Given the description of an element on the screen output the (x, y) to click on. 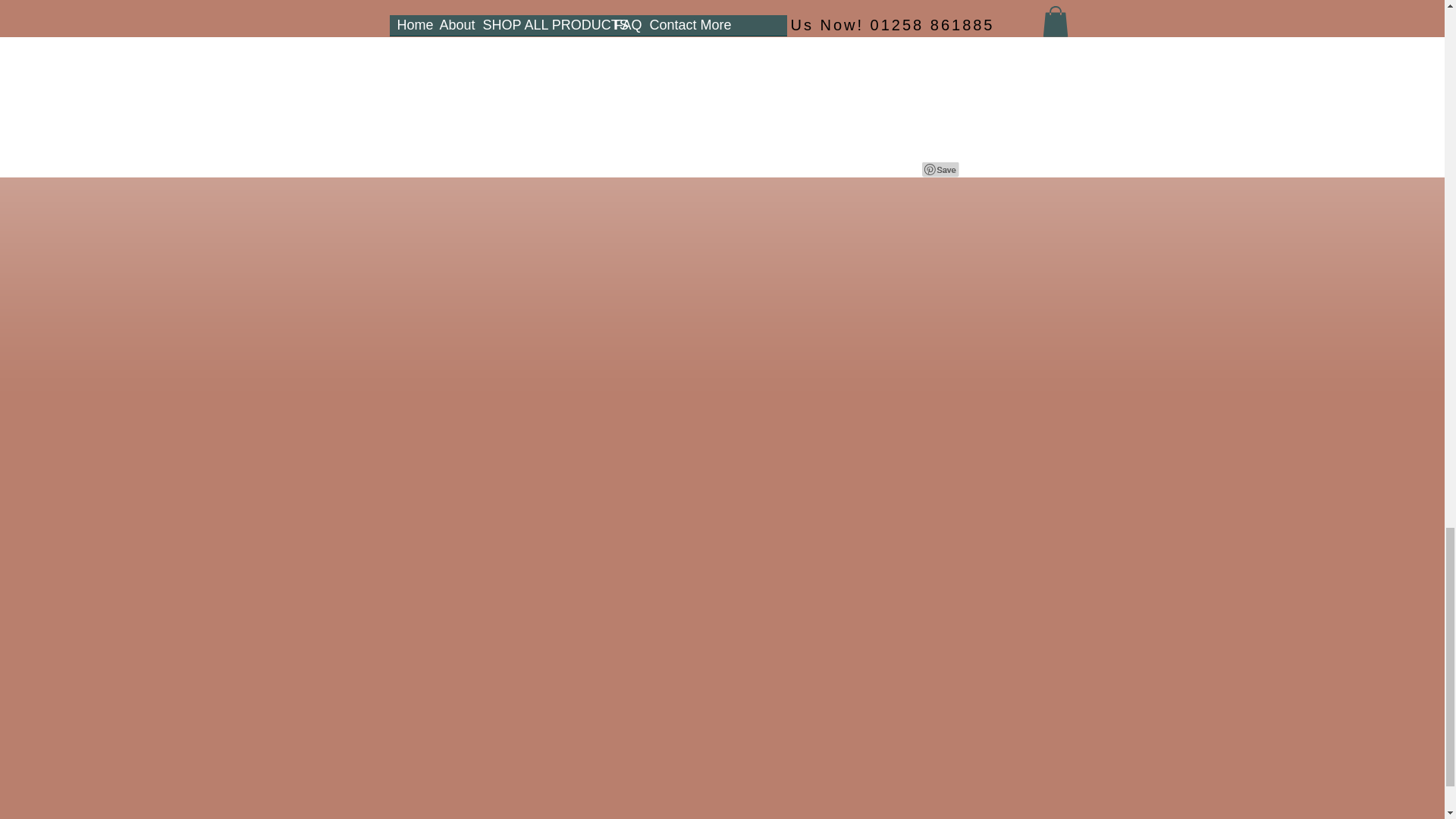
Pin to Pinterest (940, 169)
